Given the description of an element on the screen output the (x, y) to click on. 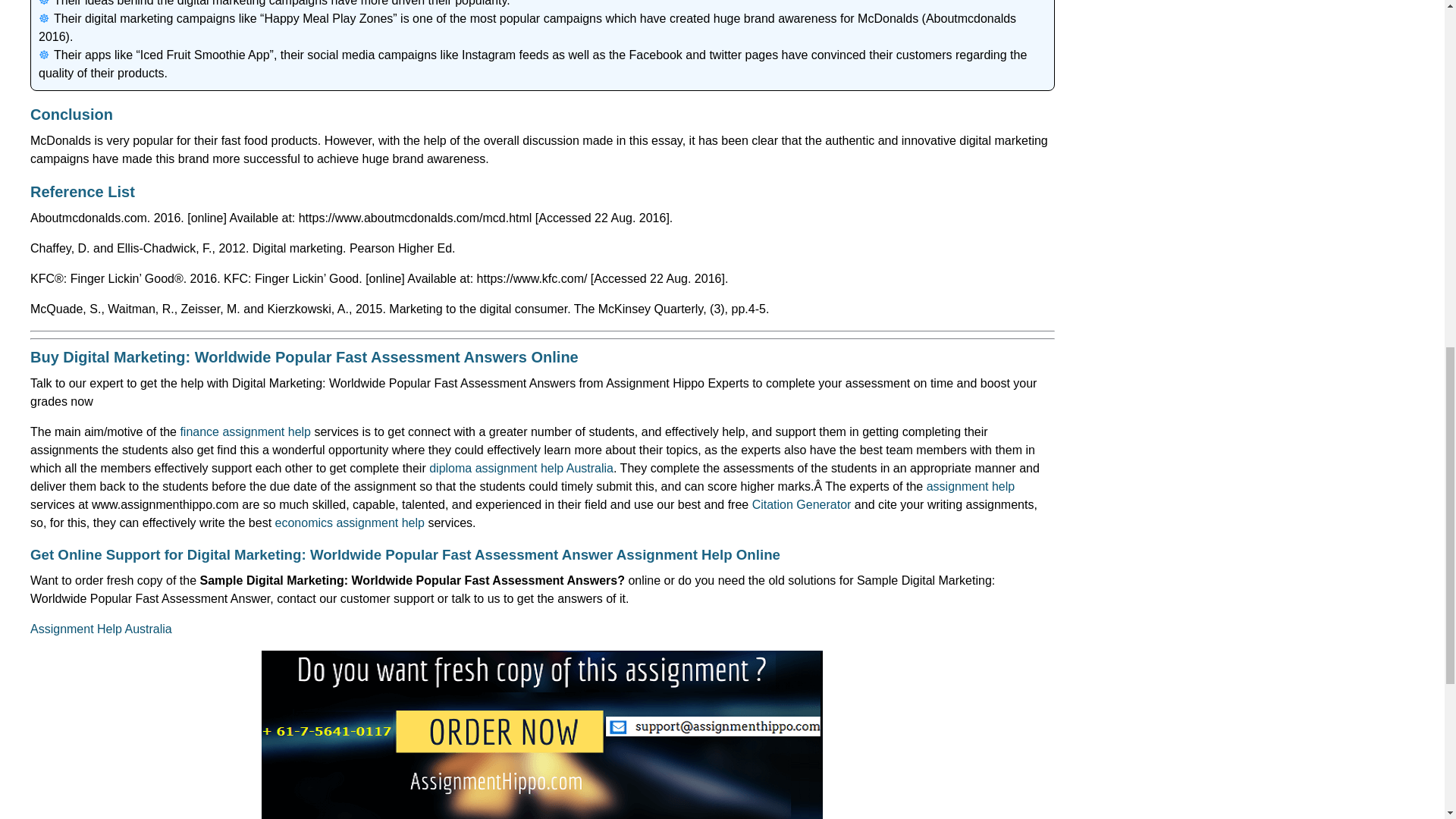
Assignment Help Australia (100, 628)
finance assignment help (245, 431)
Want latest solution of this assignment (542, 734)
assignment help (970, 486)
Assignment Help Australia (100, 628)
Citation Generator (801, 504)
diploma assignment help Australia (520, 468)
economics assignment help (350, 522)
